Given the description of an element on the screen output the (x, y) to click on. 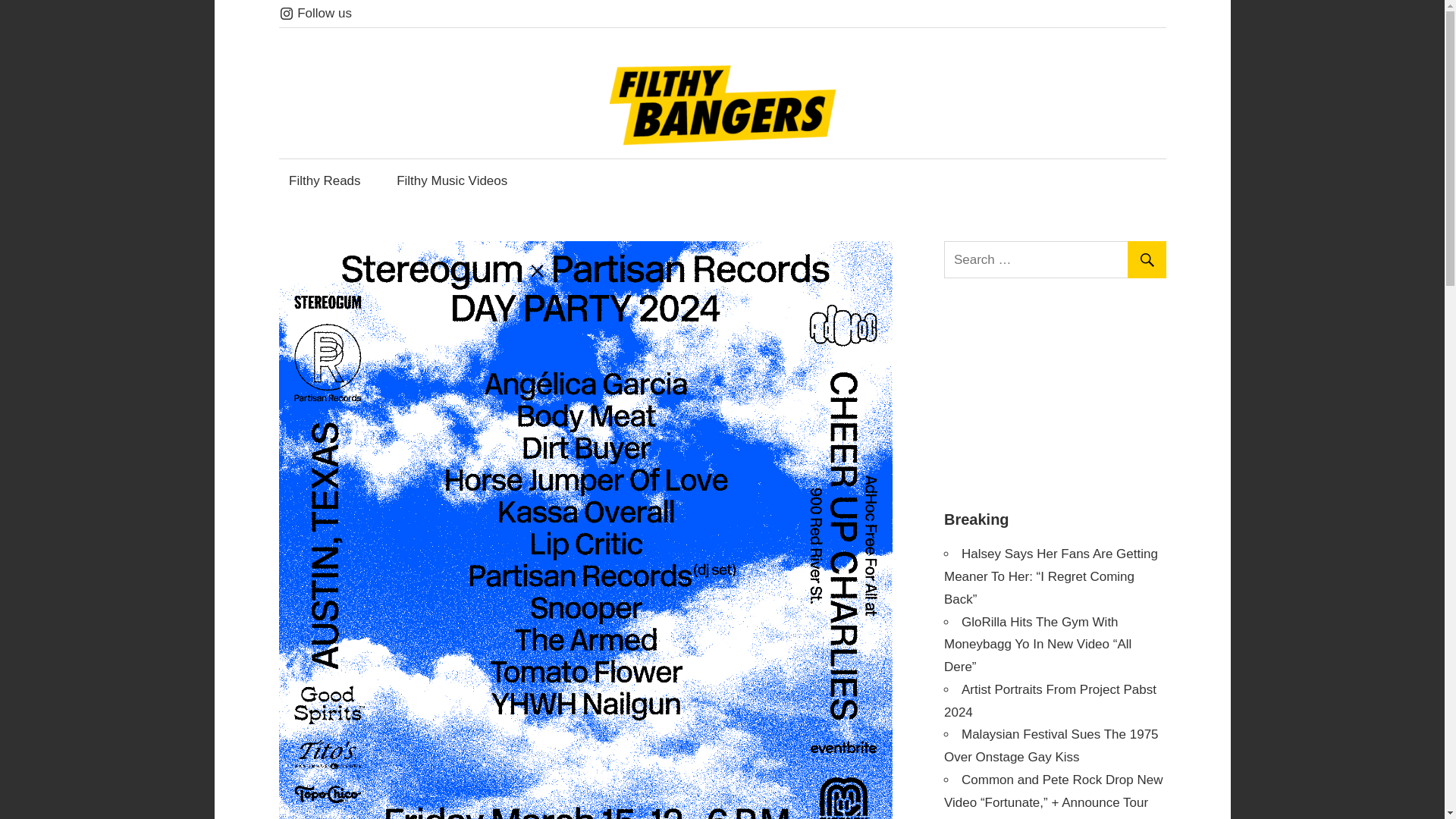
Artist Portraits From Project Pabst 2024 (1049, 700)
Filthy Reads (325, 180)
Search for: (1057, 259)
Follow us (315, 12)
Malaysian Festival Sues The 1975 Over Onstage Gay Kiss (1050, 745)
Filthy Music Videos (452, 180)
